Given the description of an element on the screen output the (x, y) to click on. 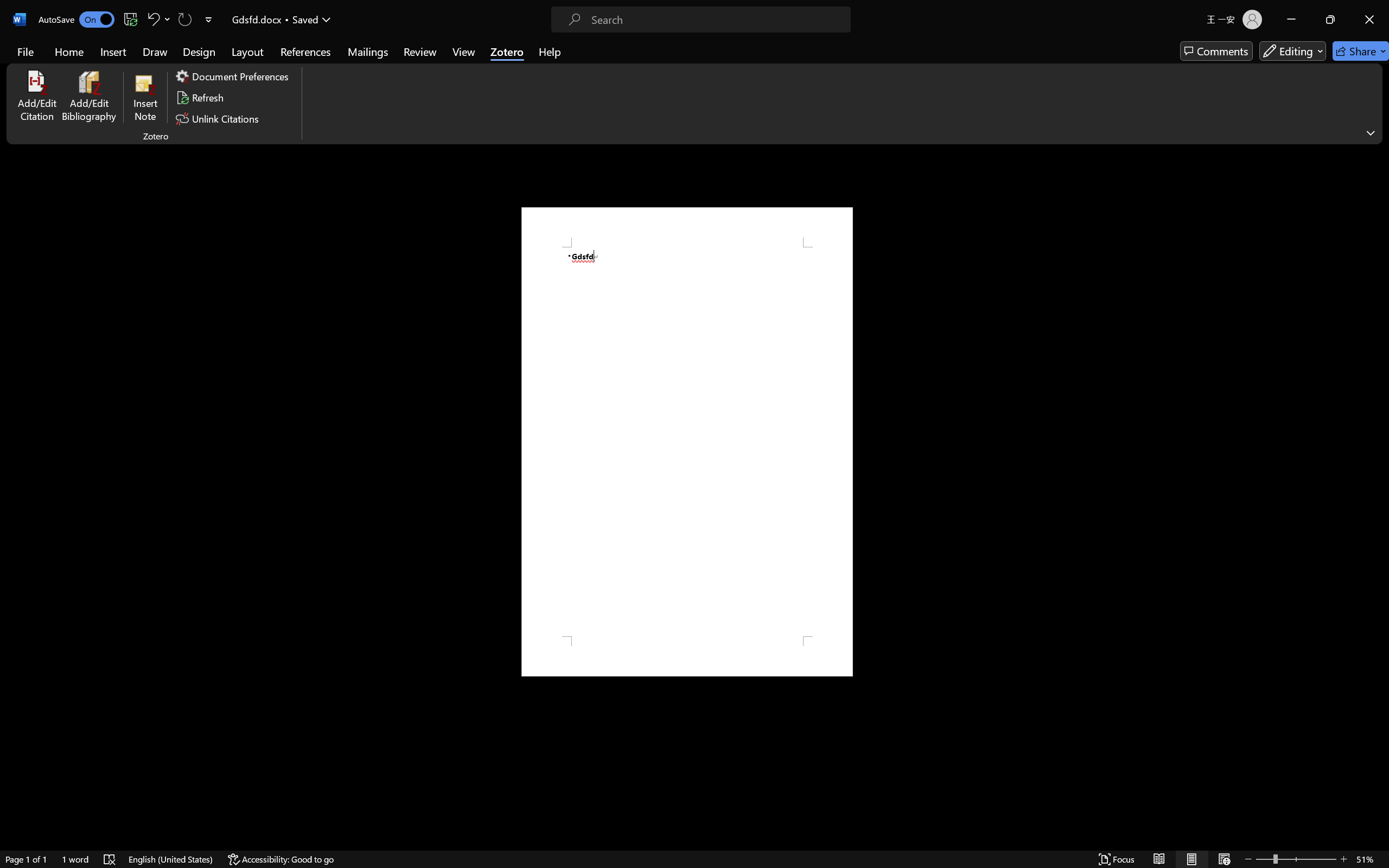
Open (1261, 47)
Add Animation (1088, 62)
Translator (1377, 132)
Fly In (195, 60)
Start (1239, 47)
Microsoft search (708, 10)
AutomationID: AnimationGallery (533, 60)
Fade (151, 60)
